Given the description of an element on the screen output the (x, y) to click on. 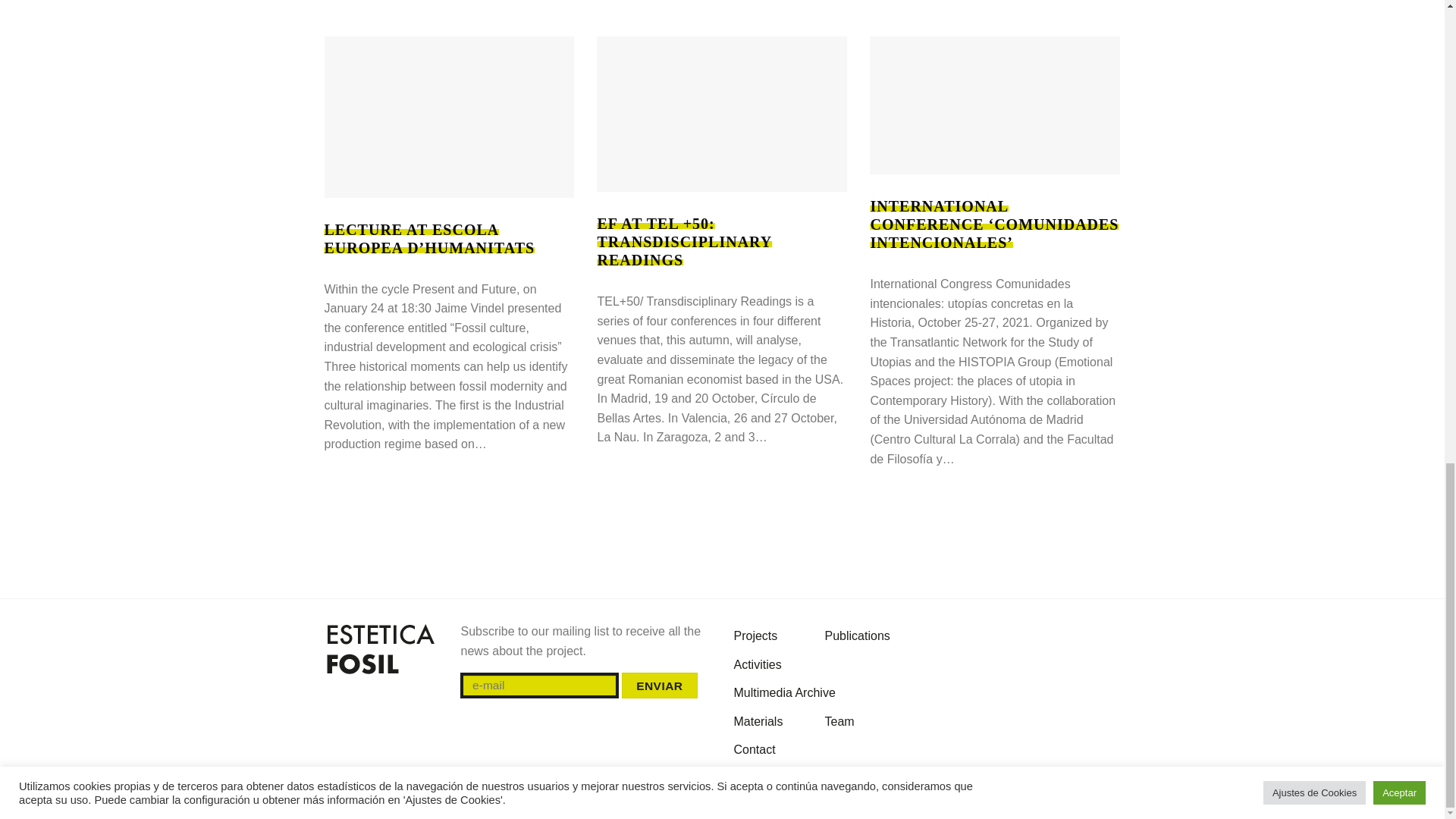
Team (839, 721)
Activities (757, 664)
Multimedia Archive (784, 692)
Contact (754, 749)
Enviar (659, 685)
Publications (857, 635)
Projects (755, 635)
Enviar (659, 685)
Materials (758, 721)
